Given the description of an element on the screen output the (x, y) to click on. 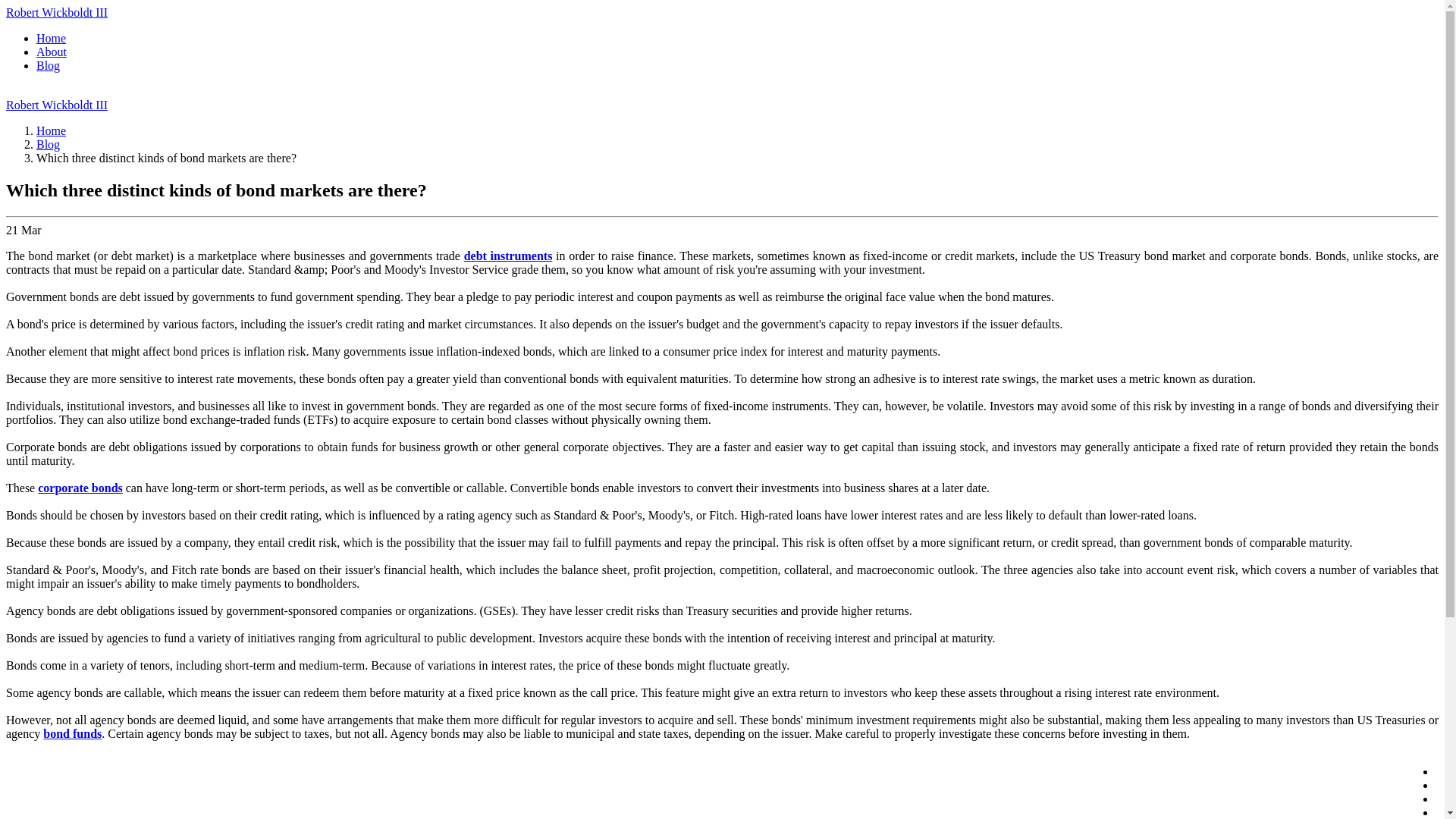
Blog (47, 65)
About (51, 51)
Robert Wickboldt III (56, 11)
Blog (47, 144)
debt instruments (508, 255)
Robert Wickboldt III (56, 104)
Home (50, 130)
corporate bonds (79, 487)
Home (50, 38)
bond funds (72, 733)
